Given the description of an element on the screen output the (x, y) to click on. 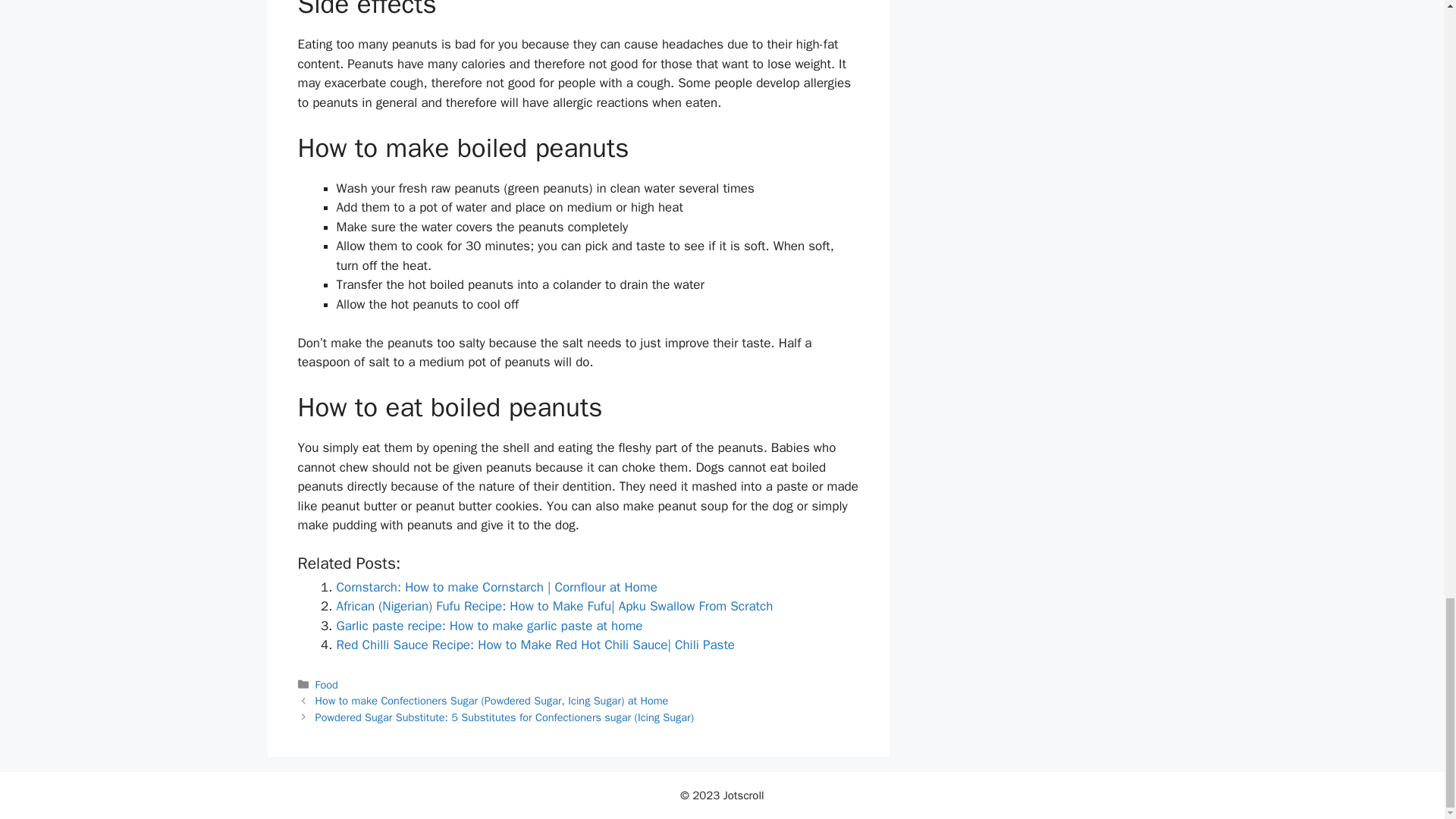
Garlic paste recipe: How to make garlic paste at home (489, 625)
Food (326, 684)
Garlic paste recipe: How to make garlic paste at home (489, 625)
